Given the description of an element on the screen output the (x, y) to click on. 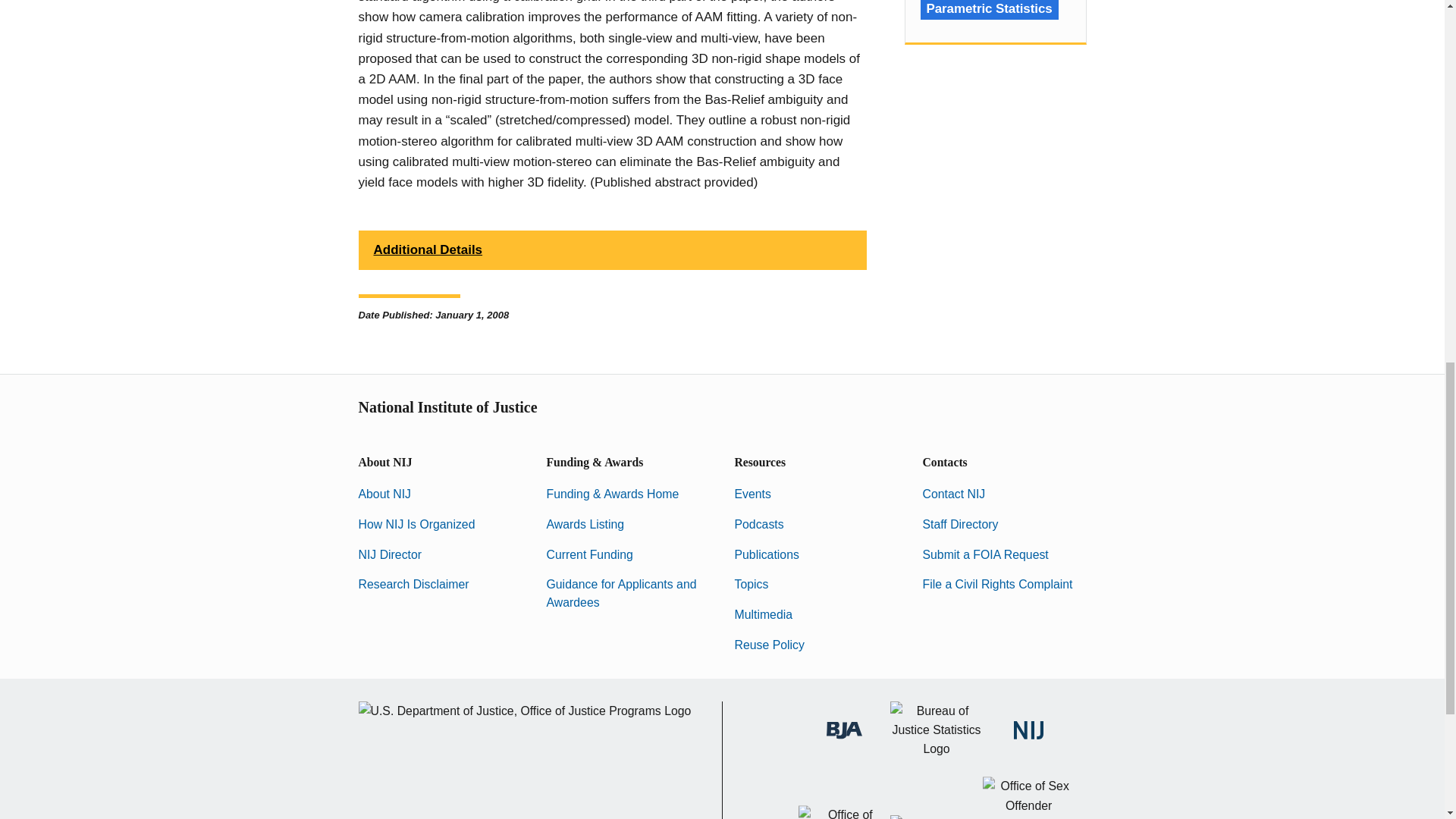
Additional Details (612, 250)
